Given the description of an element on the screen output the (x, y) to click on. 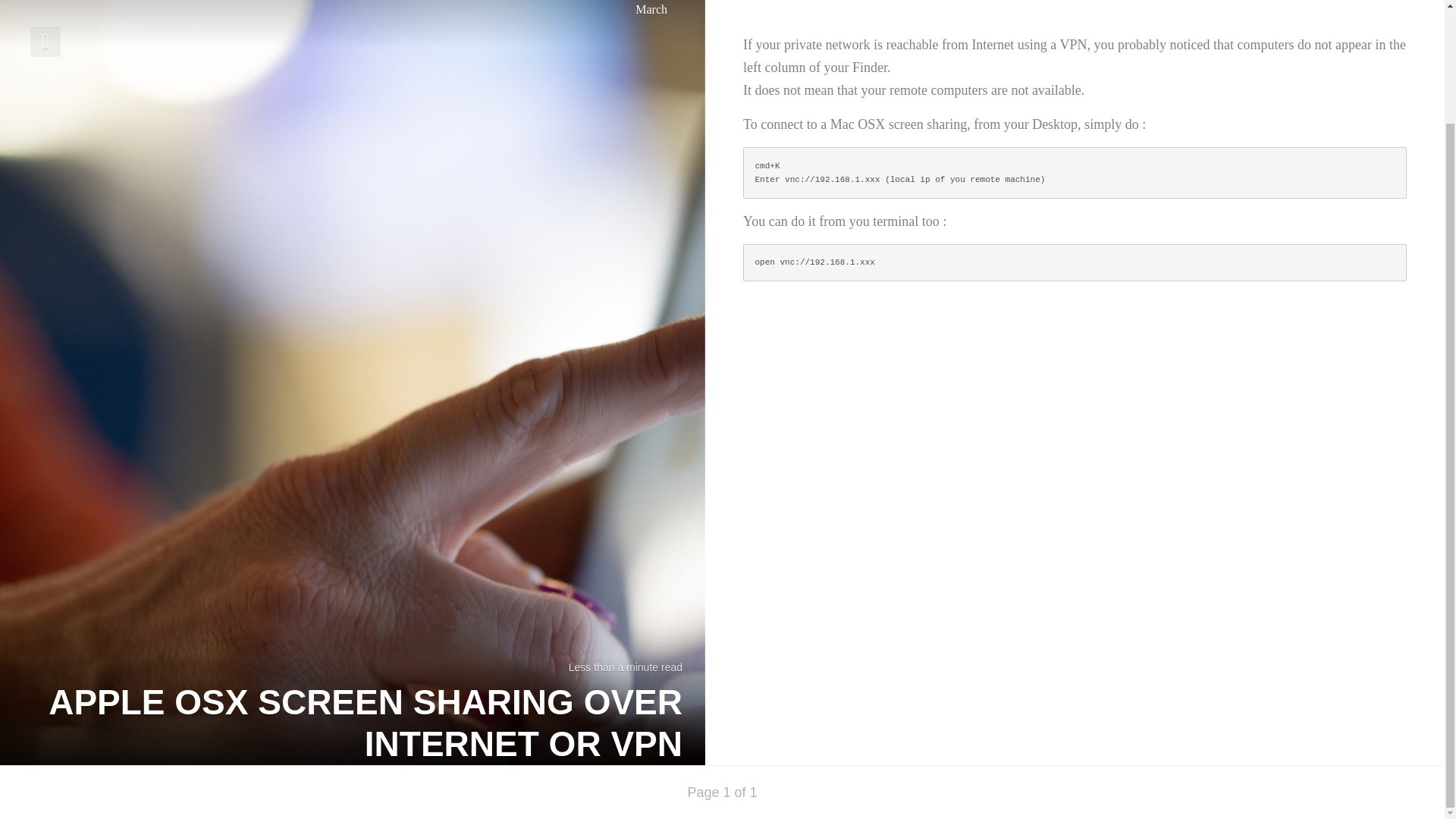
APPLE OSX SCREEN SHARING OVER INTERNET OR VPN (352, 736)
